Given the description of an element on the screen output the (x, y) to click on. 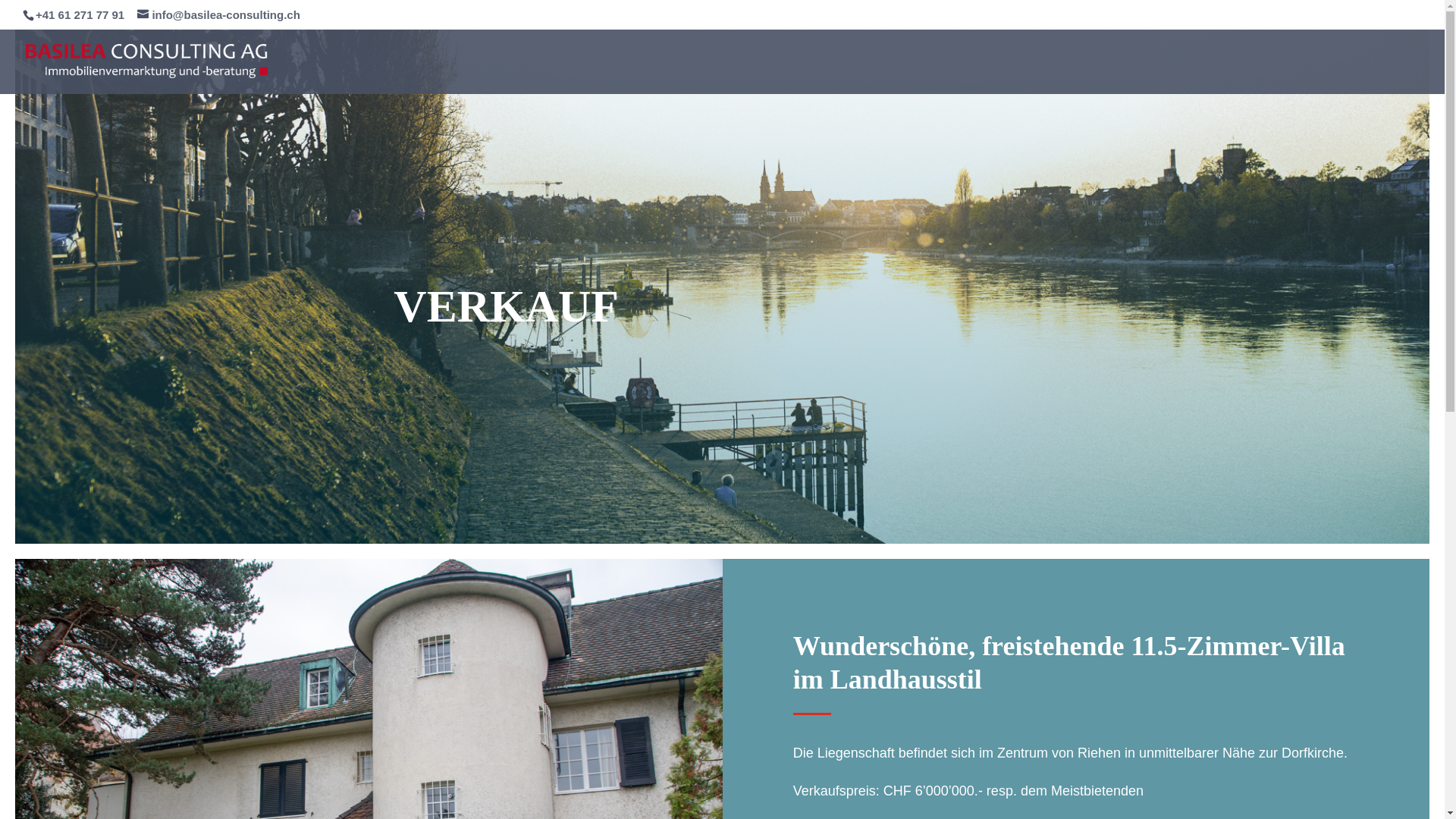
info@basilea-consulting.ch Element type: text (218, 14)
